Given the description of an element on the screen output the (x, y) to click on. 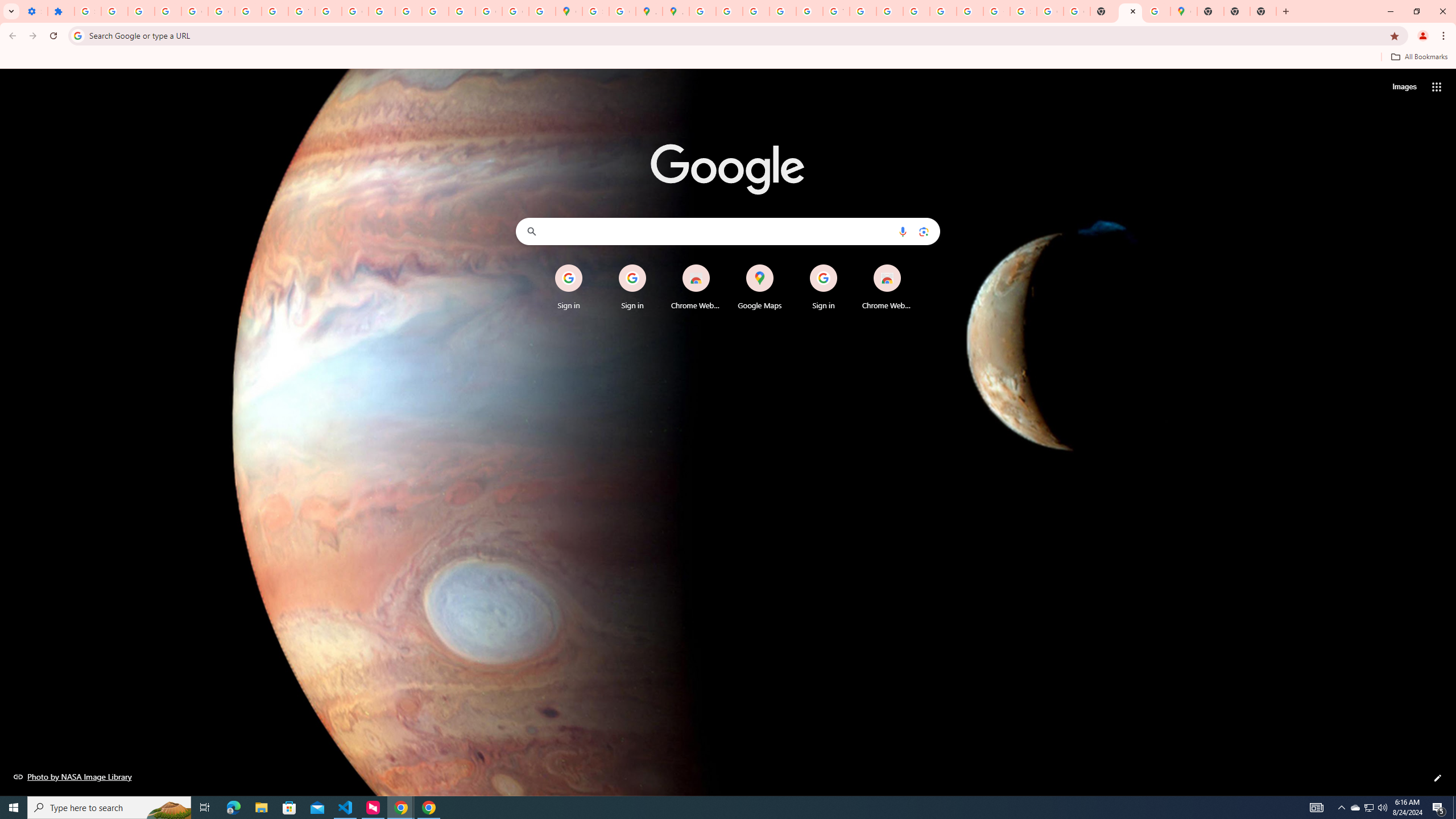
Sign in - Google Accounts (1023, 11)
Privacy Help Center - Policies Help (729, 11)
Use Google Maps in Space - Google Maps Help (1156, 11)
YouTube (836, 11)
New Tab (1262, 11)
YouTube (301, 11)
Policy Accountability and Transparency - Transparency Center (702, 11)
